Given the description of an element on the screen output the (x, y) to click on. 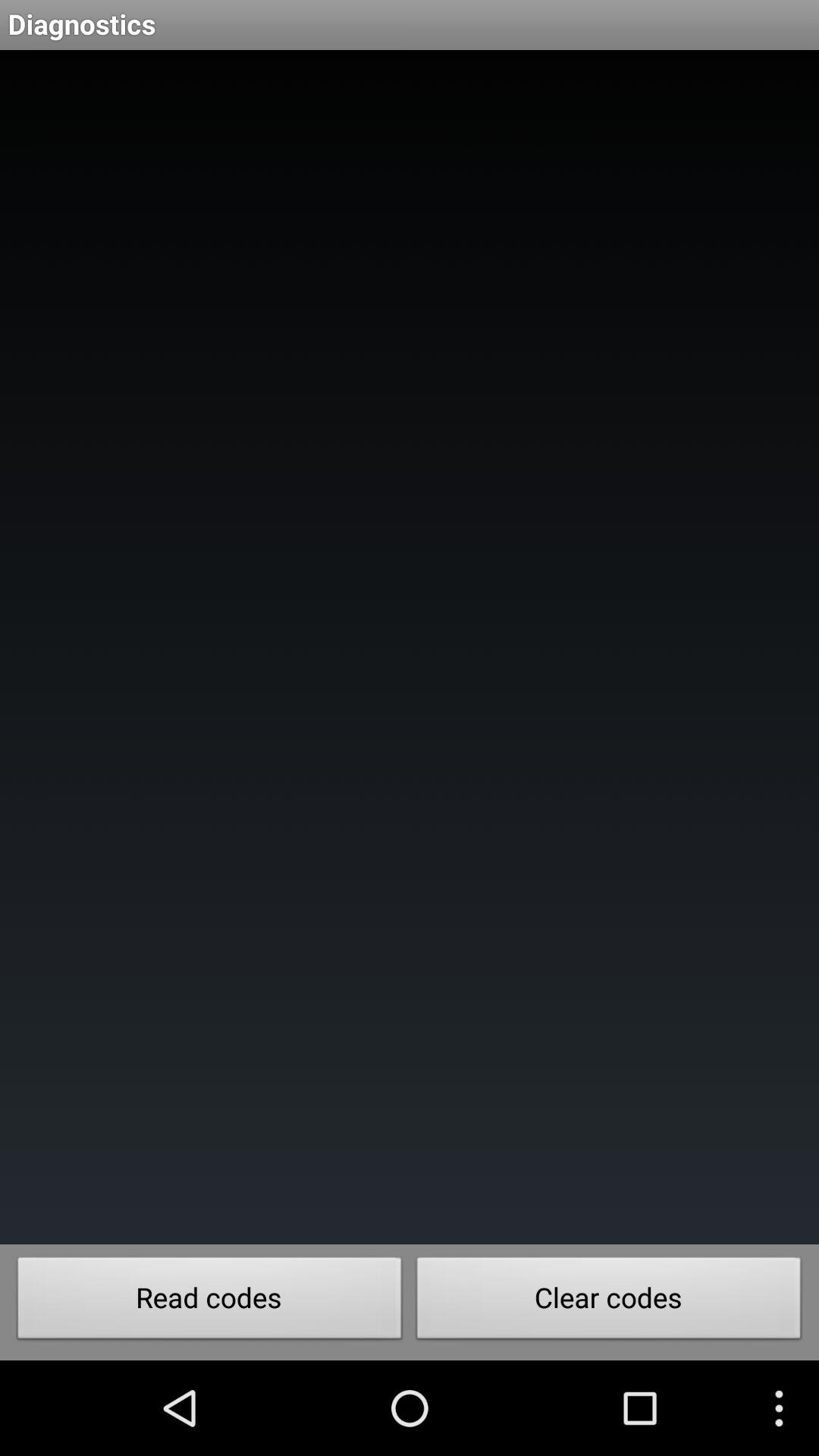
select the item next to the clear codes button (209, 1302)
